Given the description of an element on the screen output the (x, y) to click on. 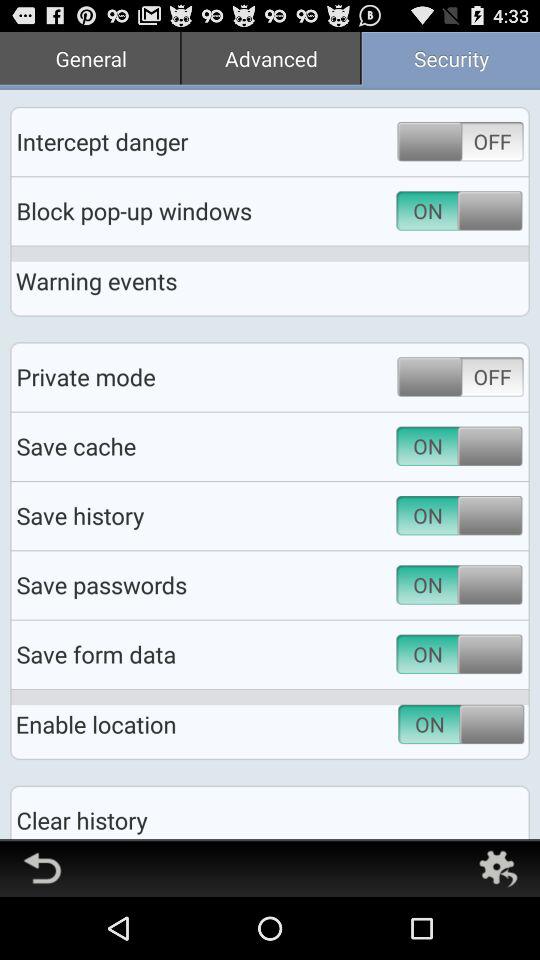
setting button (498, 868)
